Given the description of an element on the screen output the (x, y) to click on. 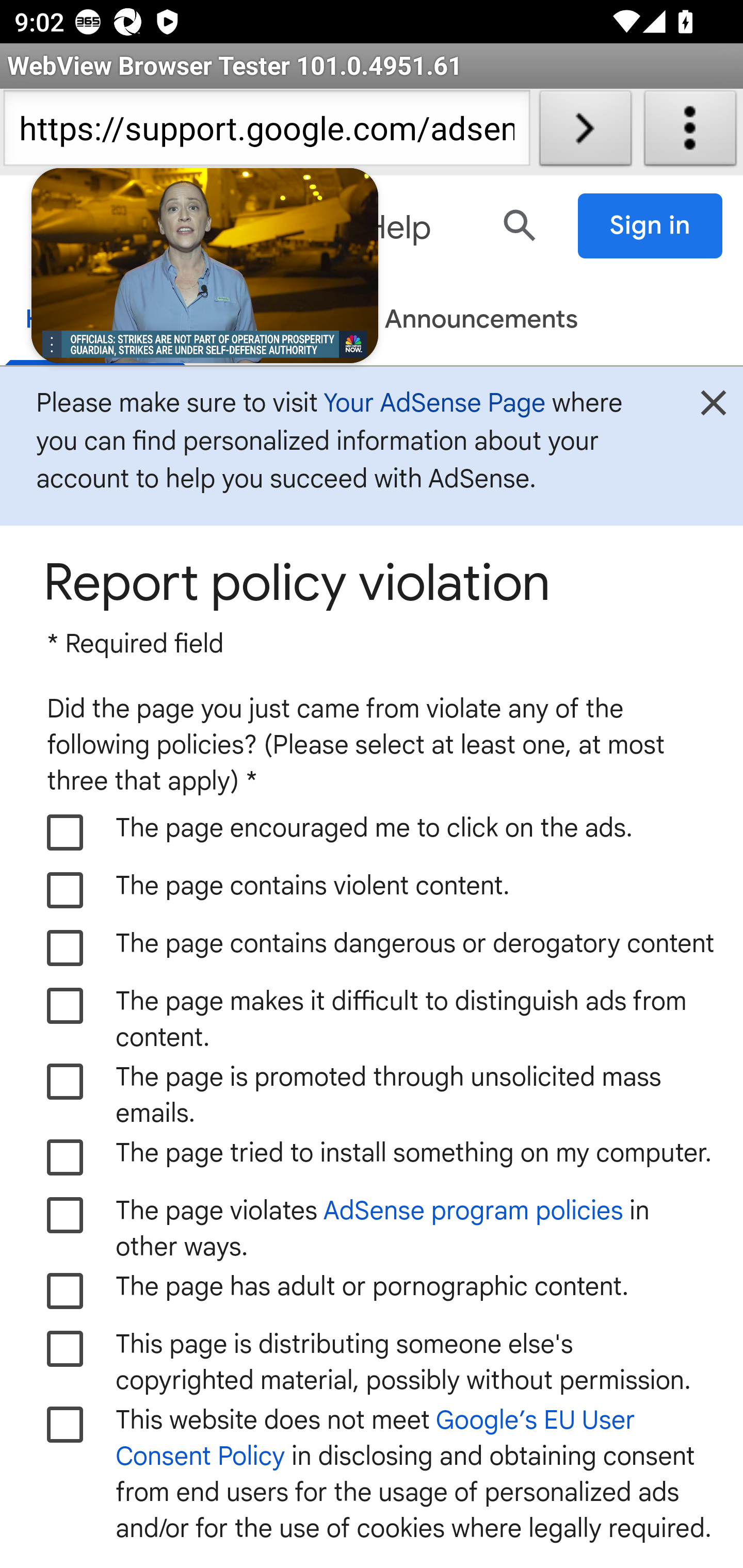
Load URL (585, 132)
About WebView (690, 132)
Search Help Center (519, 225)
Sign in (650, 226)
Close (713, 408)
Your AdSense Page (433, 402)
The page encouraged me to click on the ads. (65, 832)
The page contains violent content. (65, 890)
The page contains dangerous or derogatory content (65, 948)
The page has adult or pornographic content. (65, 1291)
